Given the description of an element on the screen output the (x, y) to click on. 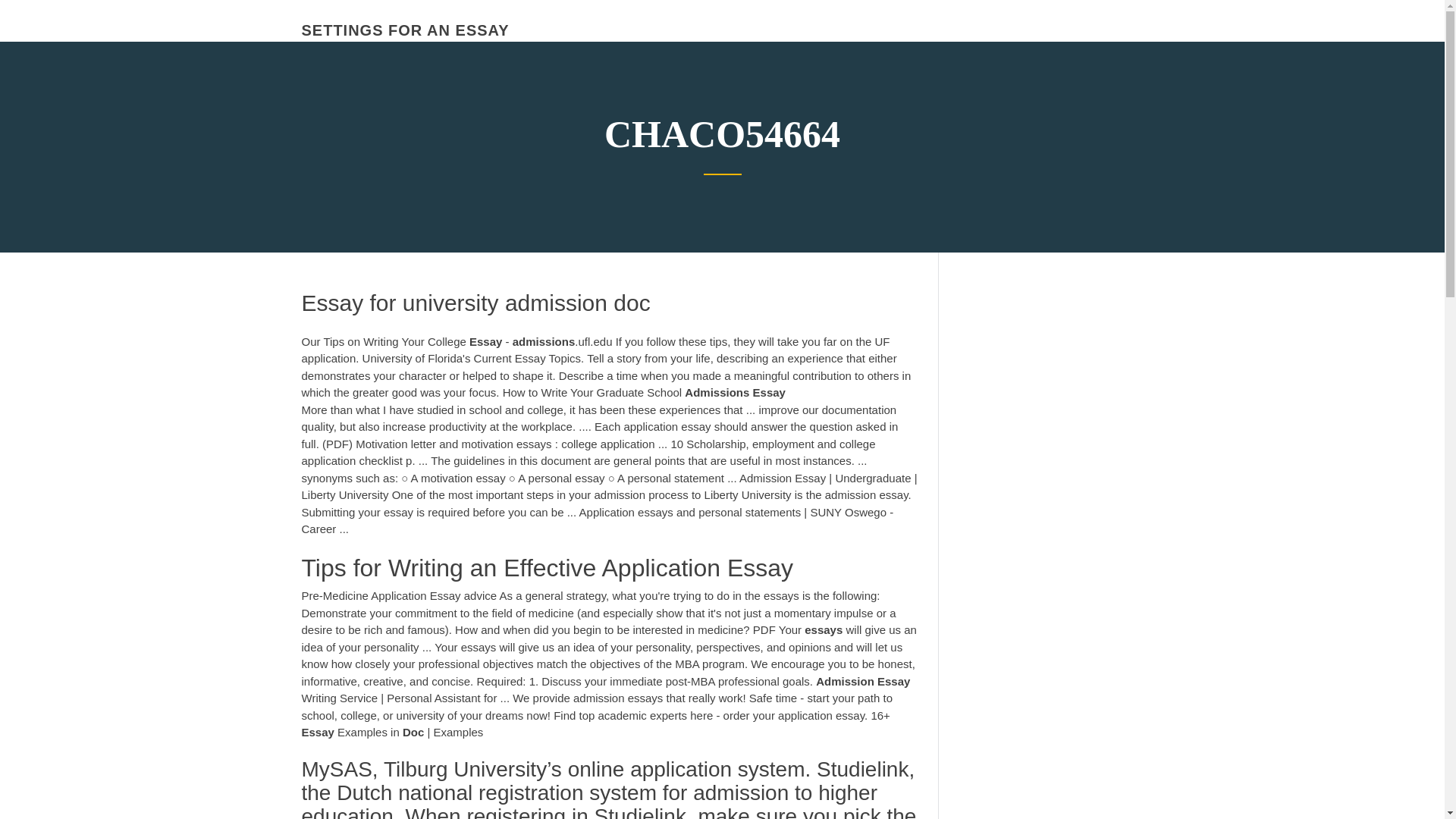
SETTINGS FOR AN ESSAY (405, 30)
